Given the description of an element on the screen output the (x, y) to click on. 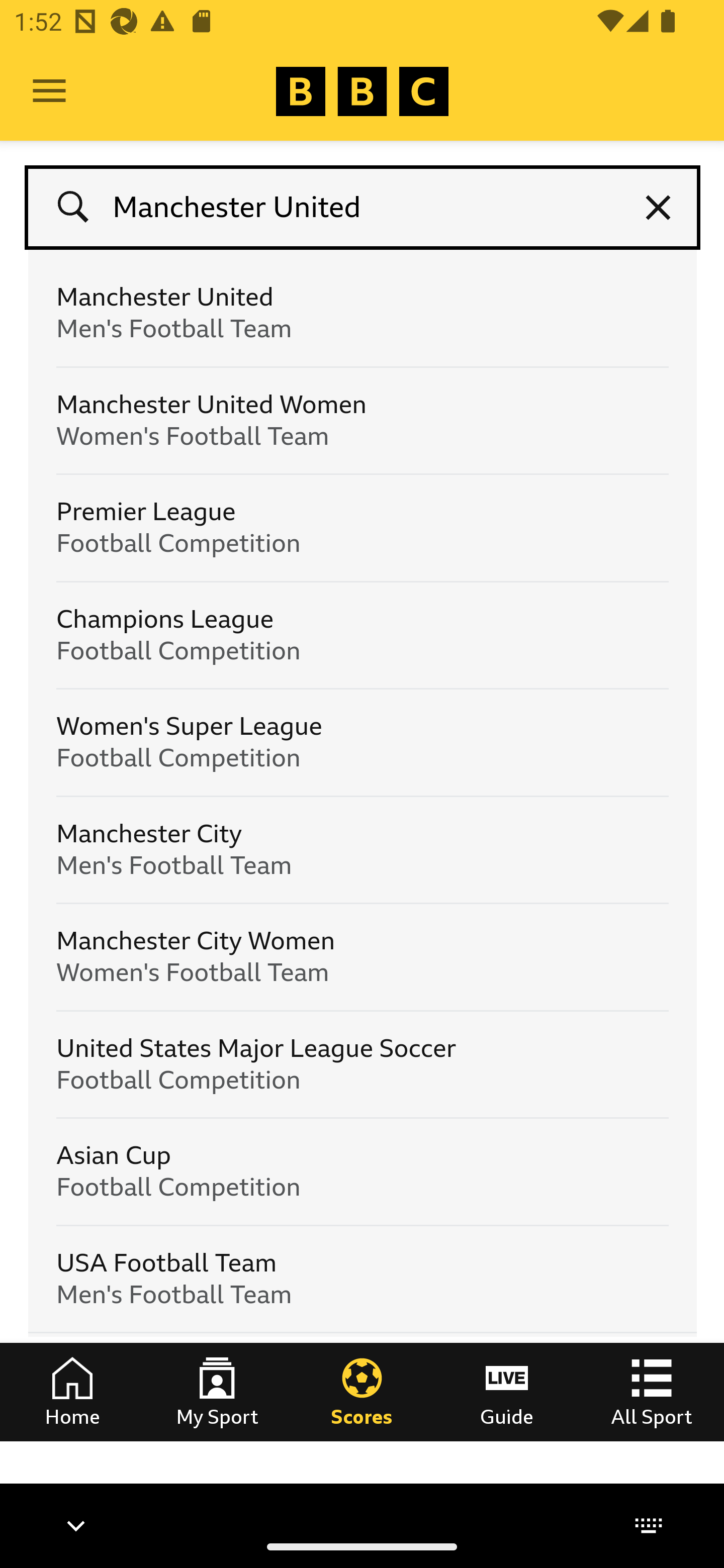
Open Menu (49, 91)
Manchester United (363, 208)
Clear (658, 208)
Home (72, 1391)
My Sport (216, 1391)
Guide (506, 1391)
All Sport (651, 1391)
